Given the description of an element on the screen output the (x, y) to click on. 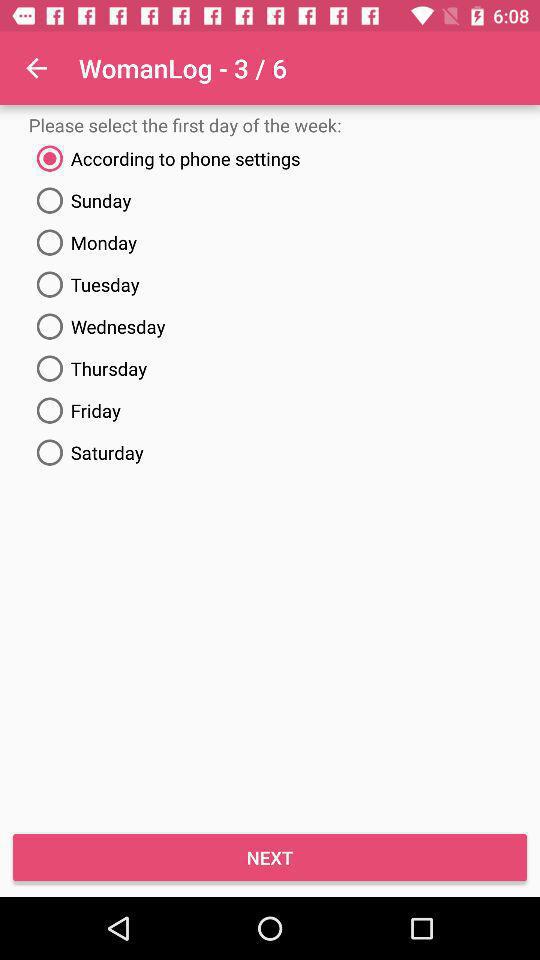
flip until sunday icon (269, 200)
